Given the description of an element on the screen output the (x, y) to click on. 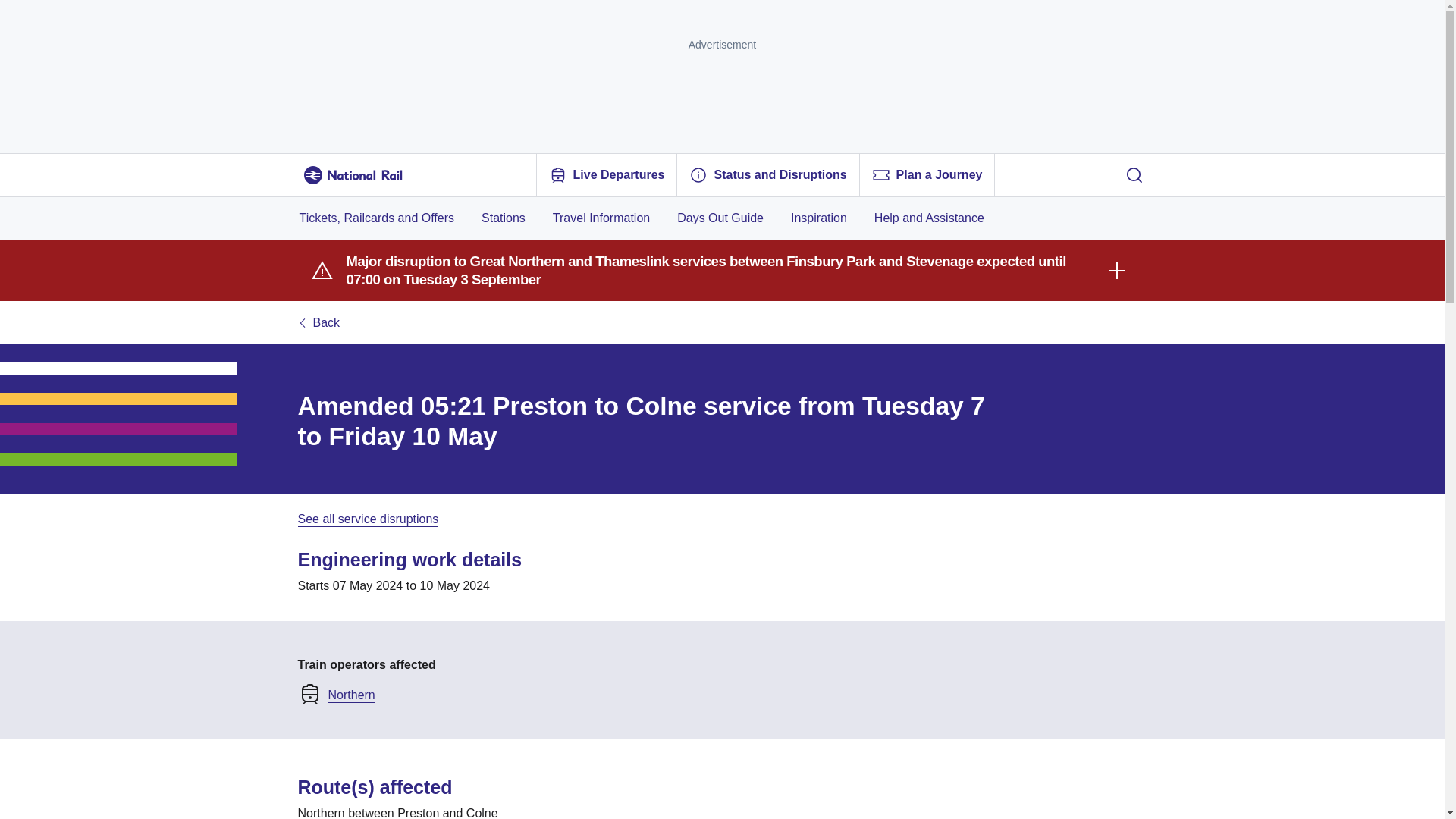
Northern (350, 692)
Status and Disruptions (768, 174)
Days Out Guide (720, 218)
Help and Assistance (928, 218)
Plan a Journey (927, 174)
Back (318, 322)
Inspiration (818, 218)
Stations (503, 218)
Live Departures (607, 174)
Tickets, Railcards and Offers (376, 218)
